Given the description of an element on the screen output the (x, y) to click on. 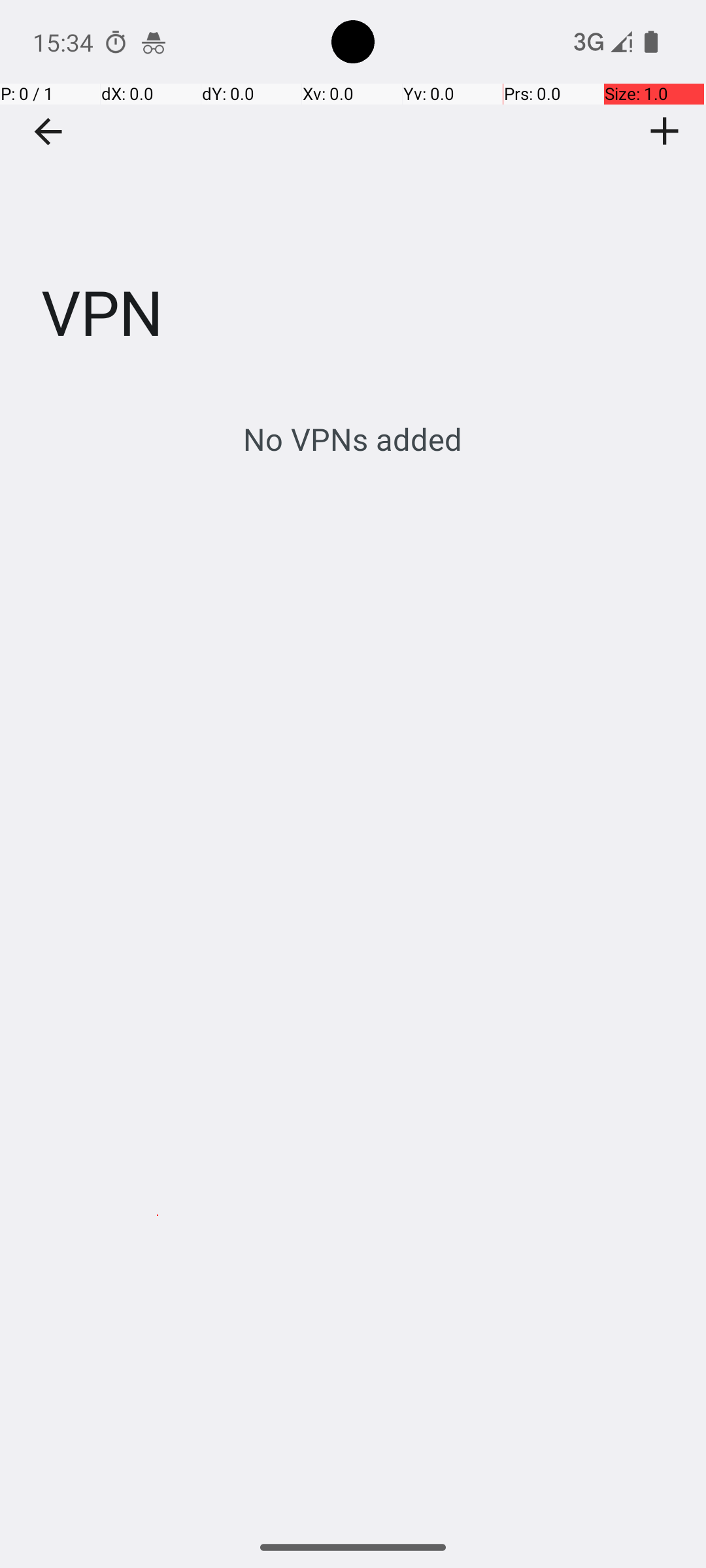
No VPNs added Element type: android.widget.TextView (352, 438)
Add VPN profile Element type: android.widget.TextView (664, 131)
